Given the description of an element on the screen output the (x, y) to click on. 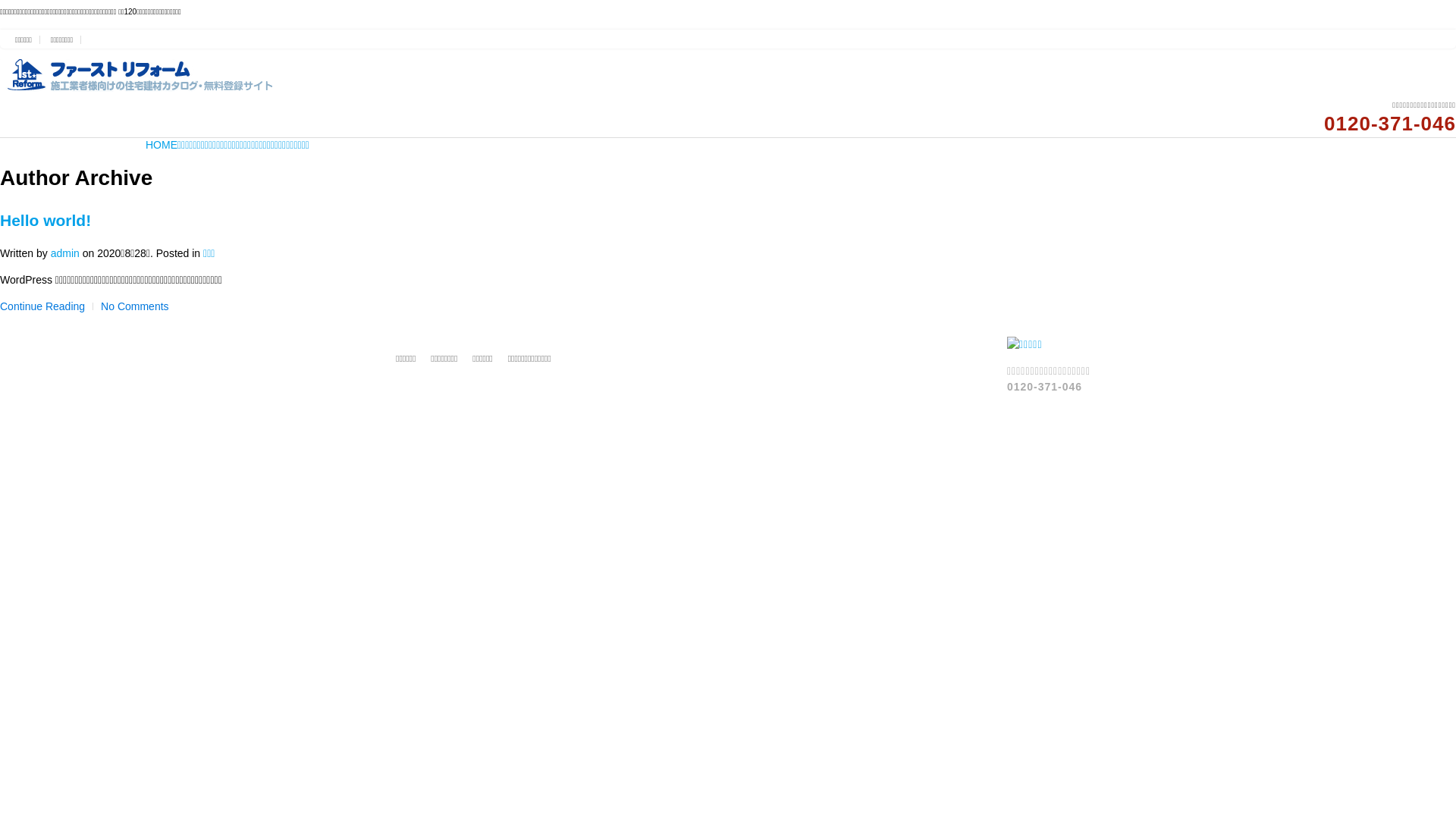
No Comments Element type: text (134, 306)
HOME Element type: text (161, 145)
admin Element type: text (64, 253)
Continue Reading Element type: text (42, 306)
Hello world! Element type: text (45, 220)
